Given the description of an element on the screen output the (x, y) to click on. 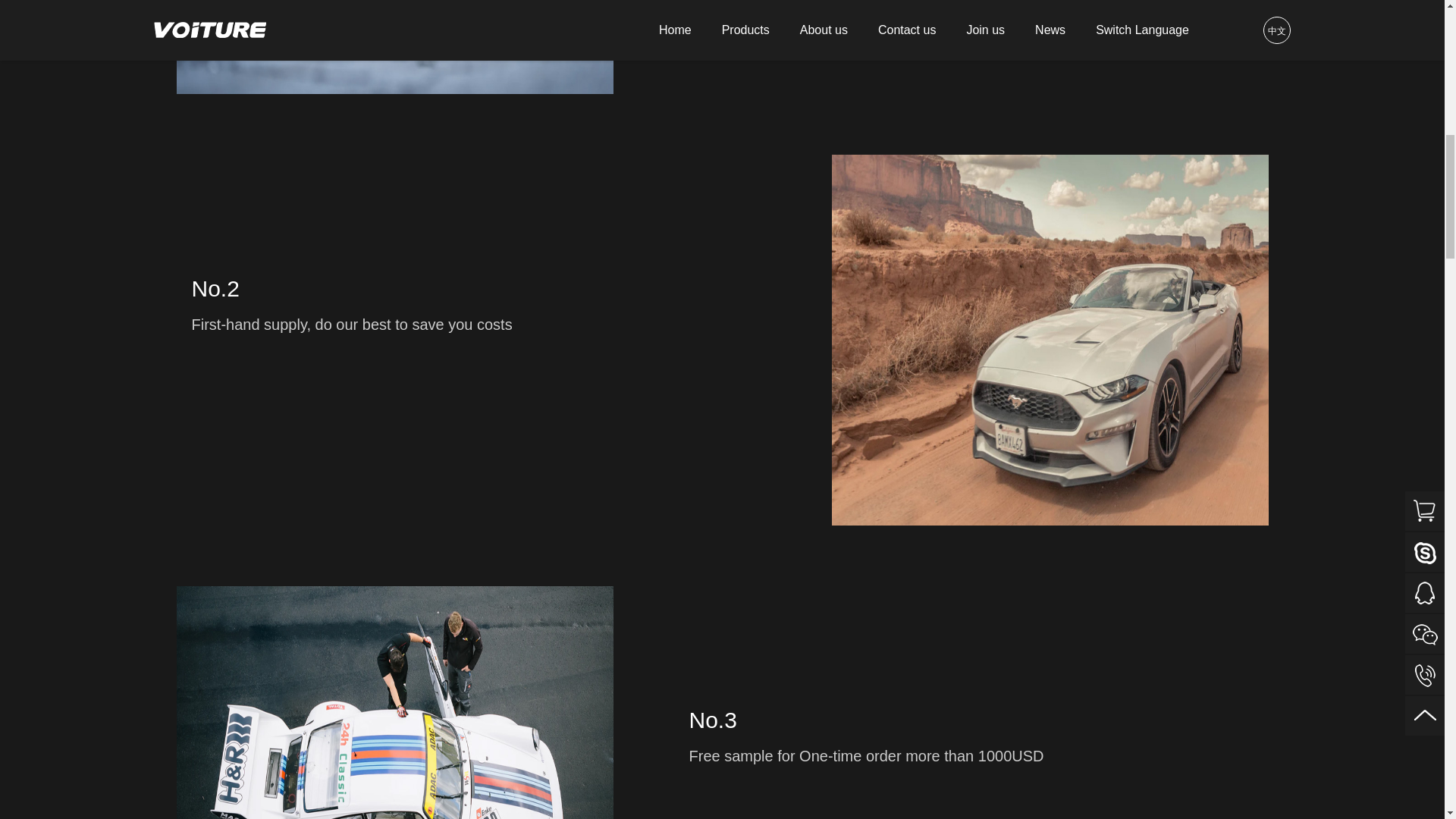
No.1 (394, 47)
No.3 (394, 702)
